Given the description of an element on the screen output the (x, y) to click on. 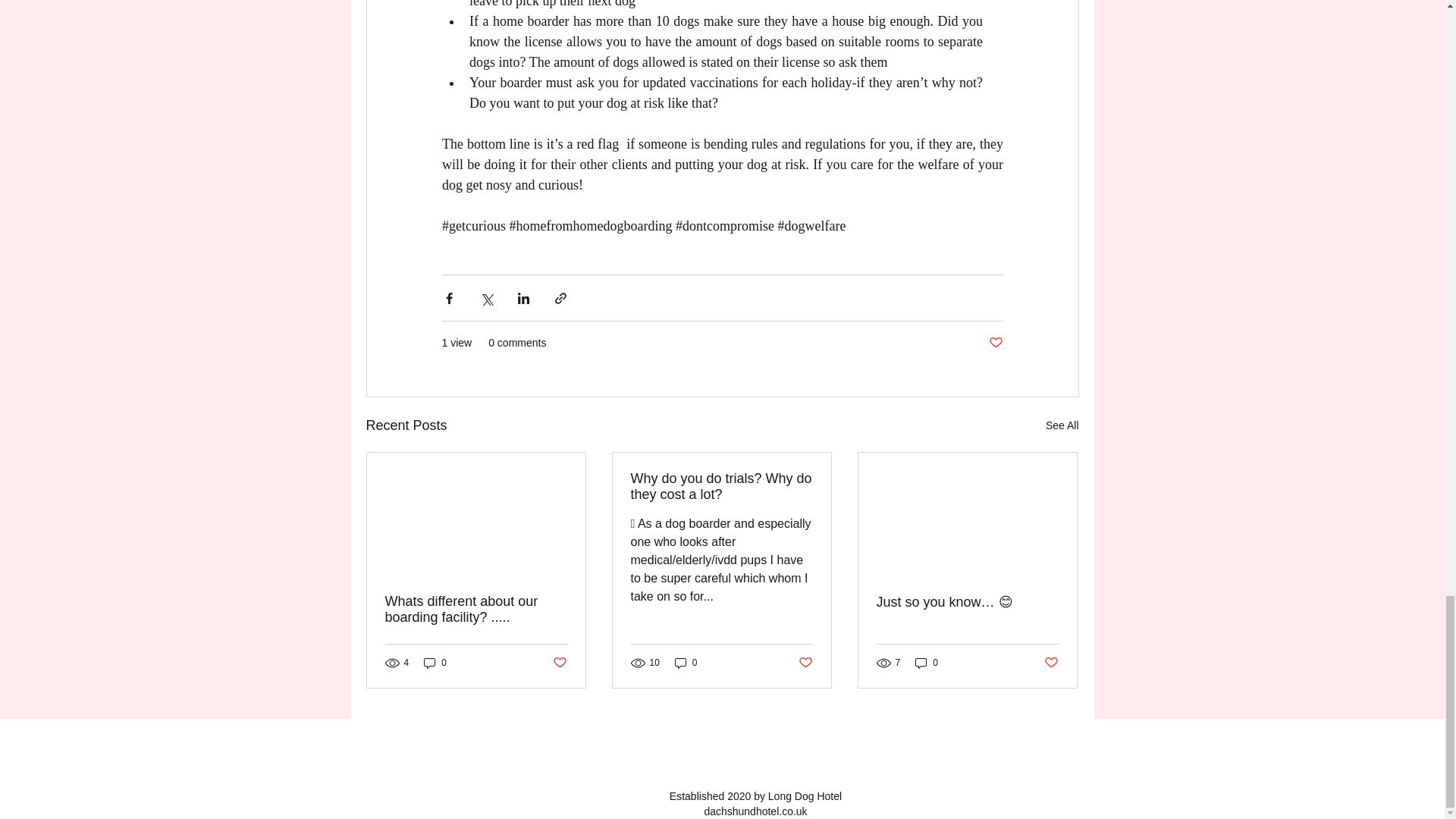
0 (926, 662)
Post not marked as liked (804, 662)
Why do you do trials? Why do they cost a lot? (721, 486)
Post not marked as liked (558, 662)
Post not marked as liked (995, 342)
0 (435, 662)
See All (1061, 425)
Whats different about our boarding facility? ..... (476, 609)
Post not marked as liked (1050, 662)
0 (685, 662)
